Given the description of an element on the screen output the (x, y) to click on. 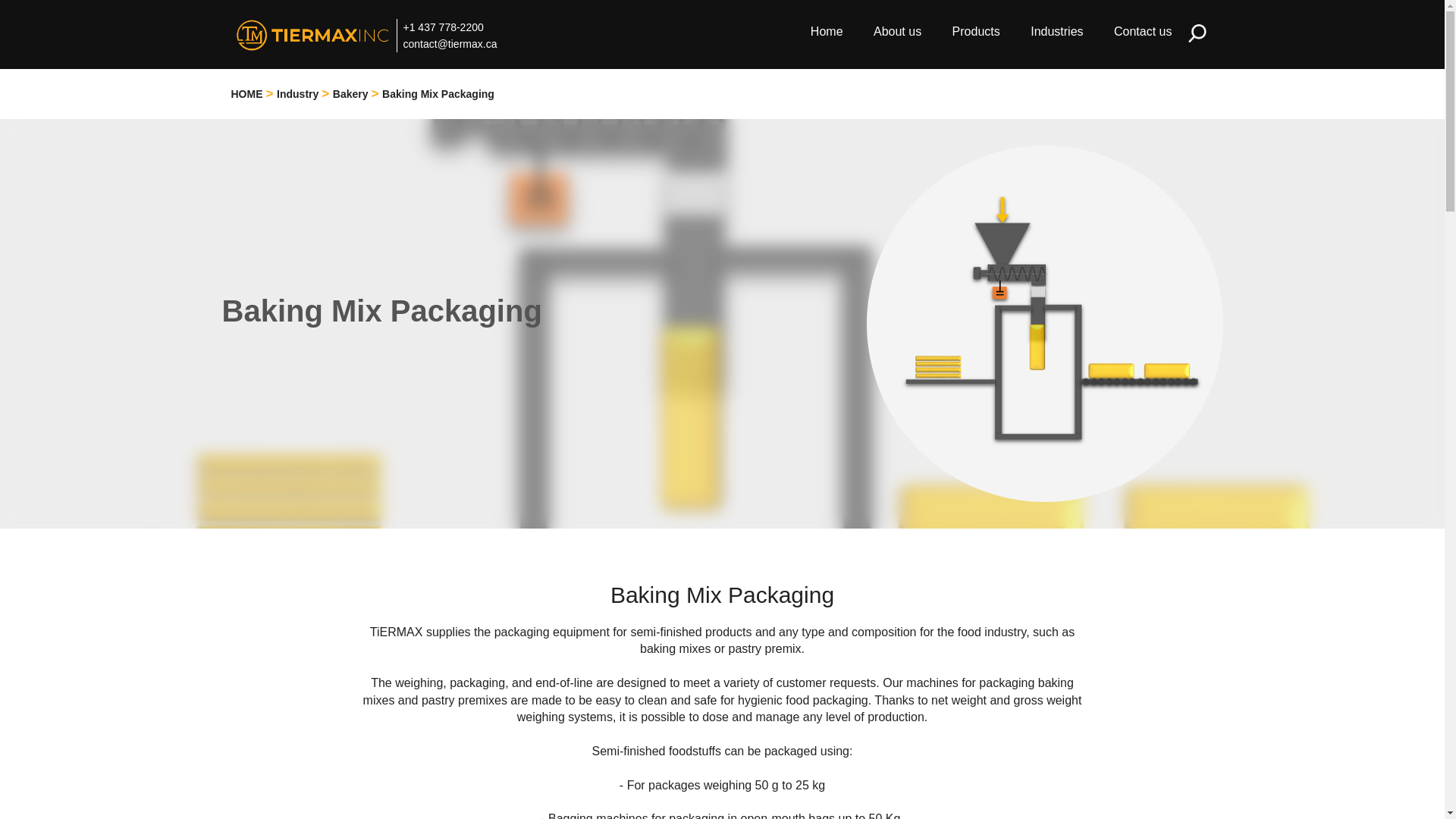
Search (1196, 33)
Products (976, 31)
Home (826, 31)
TIERMAX (310, 34)
About us (897, 31)
